Given the description of an element on the screen output the (x, y) to click on. 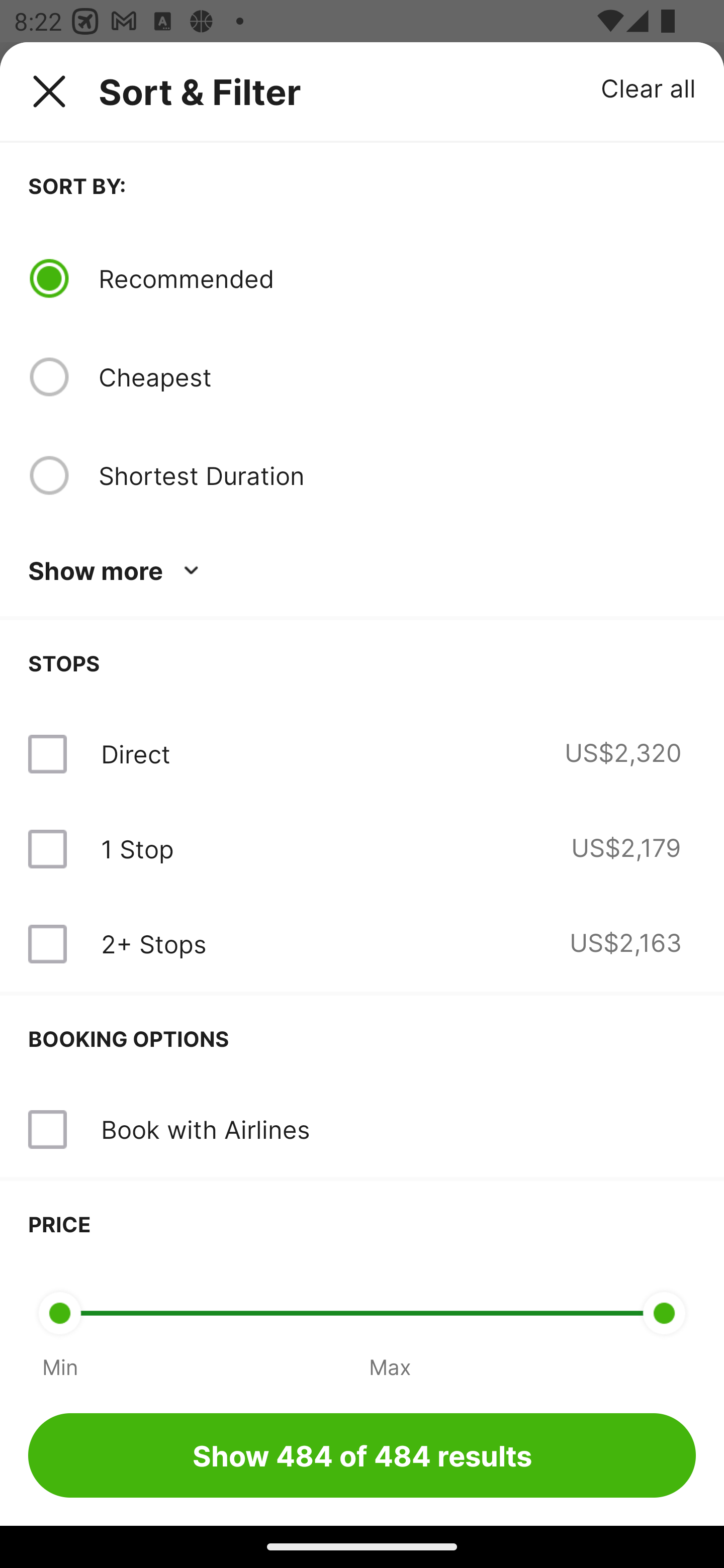
Clear all (648, 87)
Recommended  (396, 278)
Cheapest (396, 377)
Shortest Duration (396, 474)
Show more (116, 570)
Direct US$2,320 (362, 754)
Direct (135, 753)
1 Stop US$2,179 (362, 848)
1 Stop (136, 849)
2+ Stops US$2,163 (362, 943)
2+ Stops (153, 943)
Book with Airlines (362, 1129)
Book with Airlines (204, 1128)
Show 484 of 484 results (361, 1454)
